Given the description of an element on the screen output the (x, y) to click on. 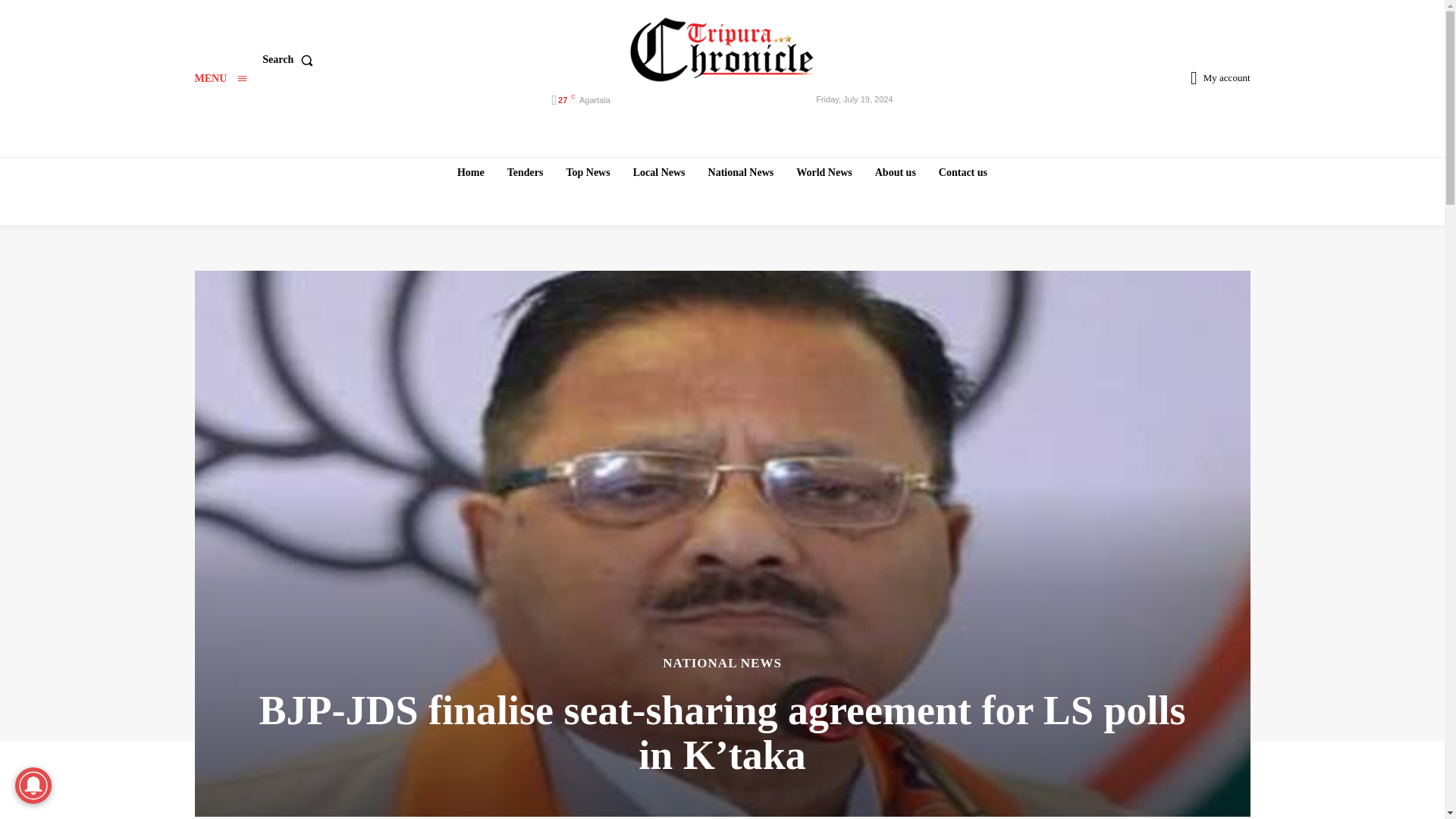
World News (824, 172)
National News (740, 172)
Local News (659, 172)
Menu (220, 78)
Tenders (525, 172)
Top News (587, 172)
Home (470, 172)
MENU (220, 78)
Search (290, 60)
